Given the description of an element on the screen output the (x, y) to click on. 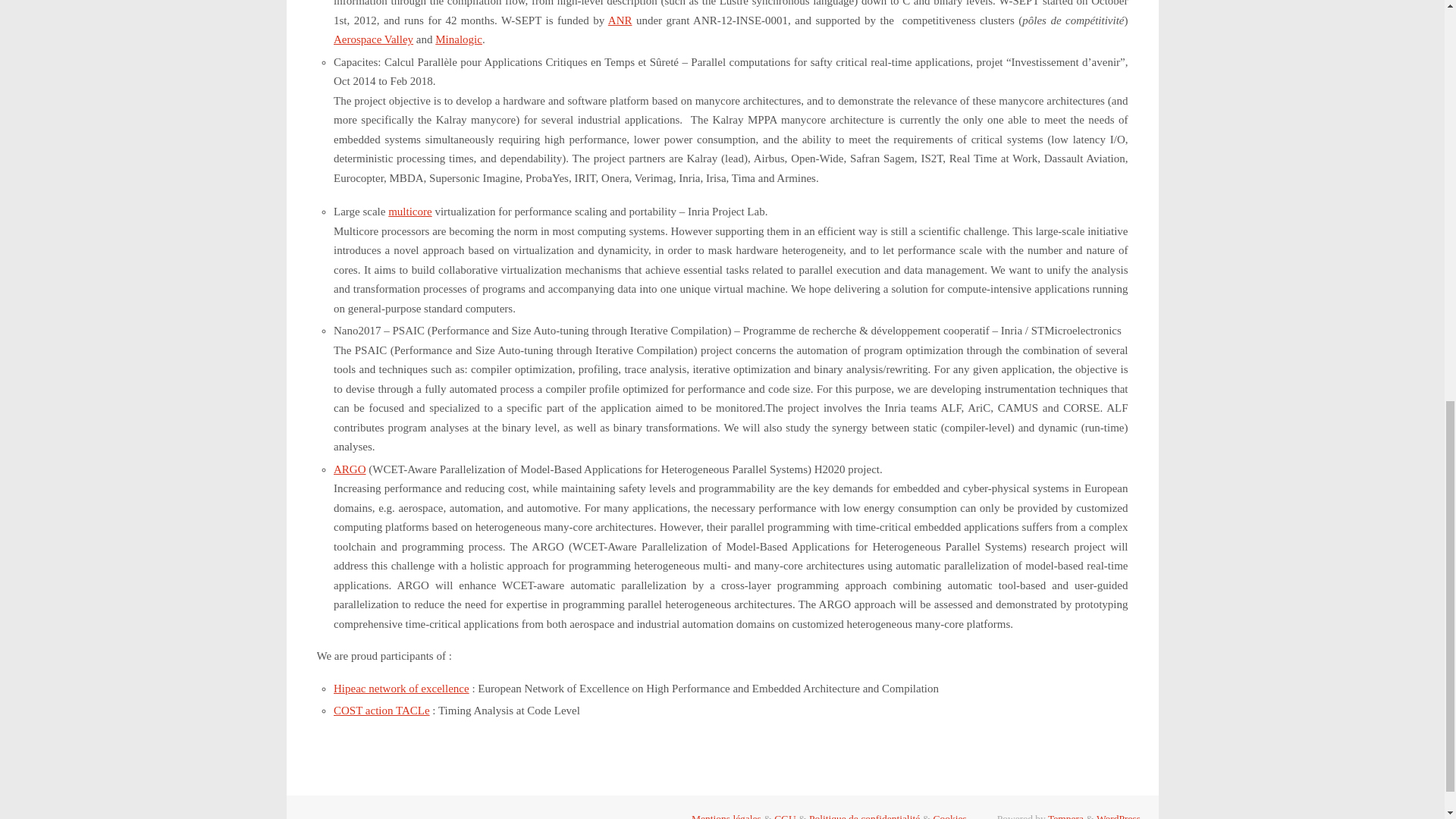
Hipeac network of excellence (400, 688)
CGU (785, 816)
Tempera (1065, 816)
Cookies (949, 816)
COST action TACLe (381, 710)
Cookies (949, 816)
WordPress. (1119, 816)
ARGO (349, 469)
ANR (619, 20)
CGU (785, 816)
